Given the description of an element on the screen output the (x, y) to click on. 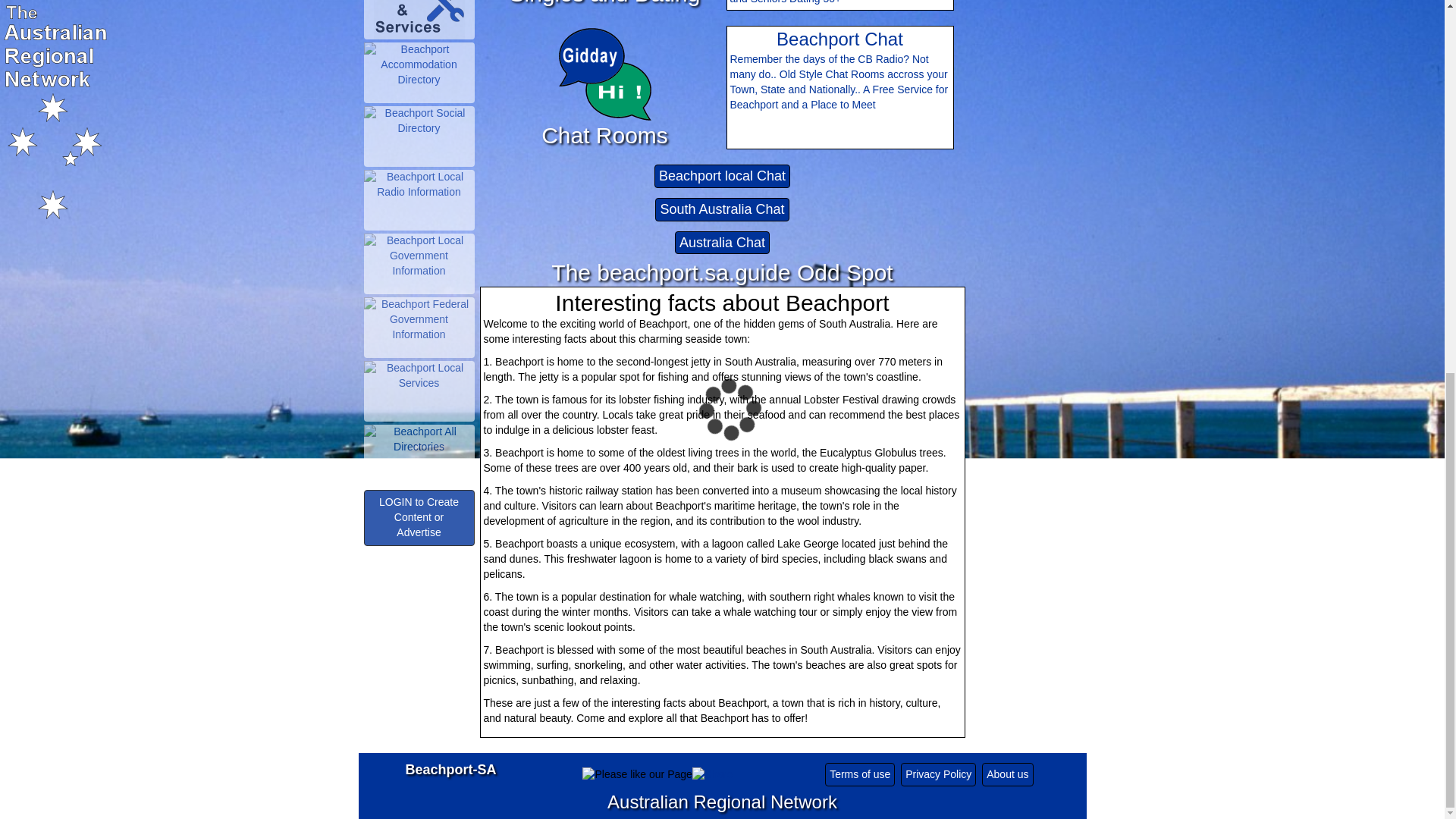
Beachport Chat (604, 73)
Please like our Page (636, 774)
